Given the description of an element on the screen output the (x, y) to click on. 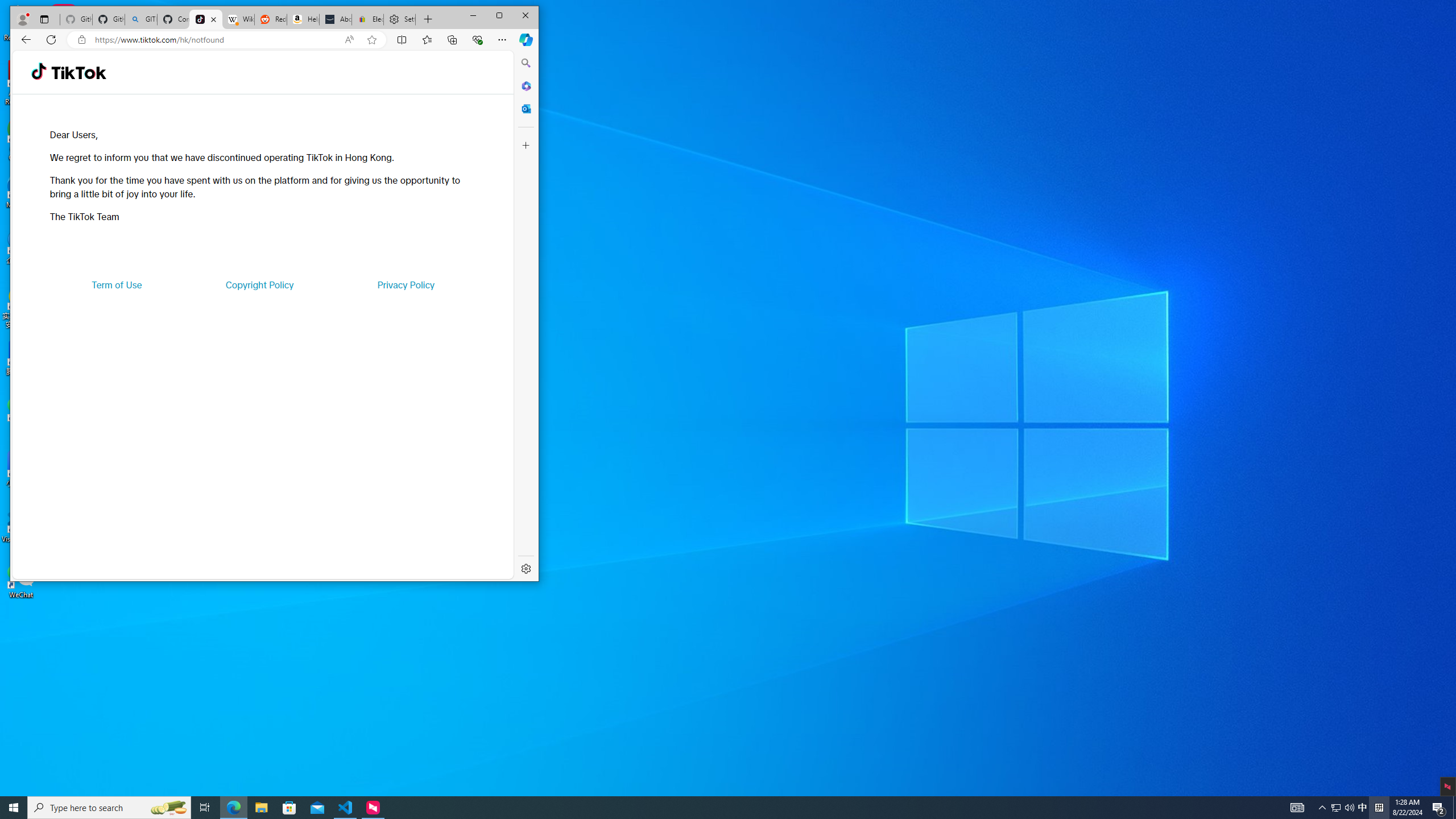
Action Center, 2 new notifications (1439, 807)
TikTok (205, 19)
Start (13, 807)
Tray Input Indicator - Chinese (Simplified, China) (1378, 807)
Copyright Policy (259, 284)
AutomationID: 4105 (1297, 807)
Term of Use (116, 284)
